Given the description of an element on the screen output the (x, y) to click on. 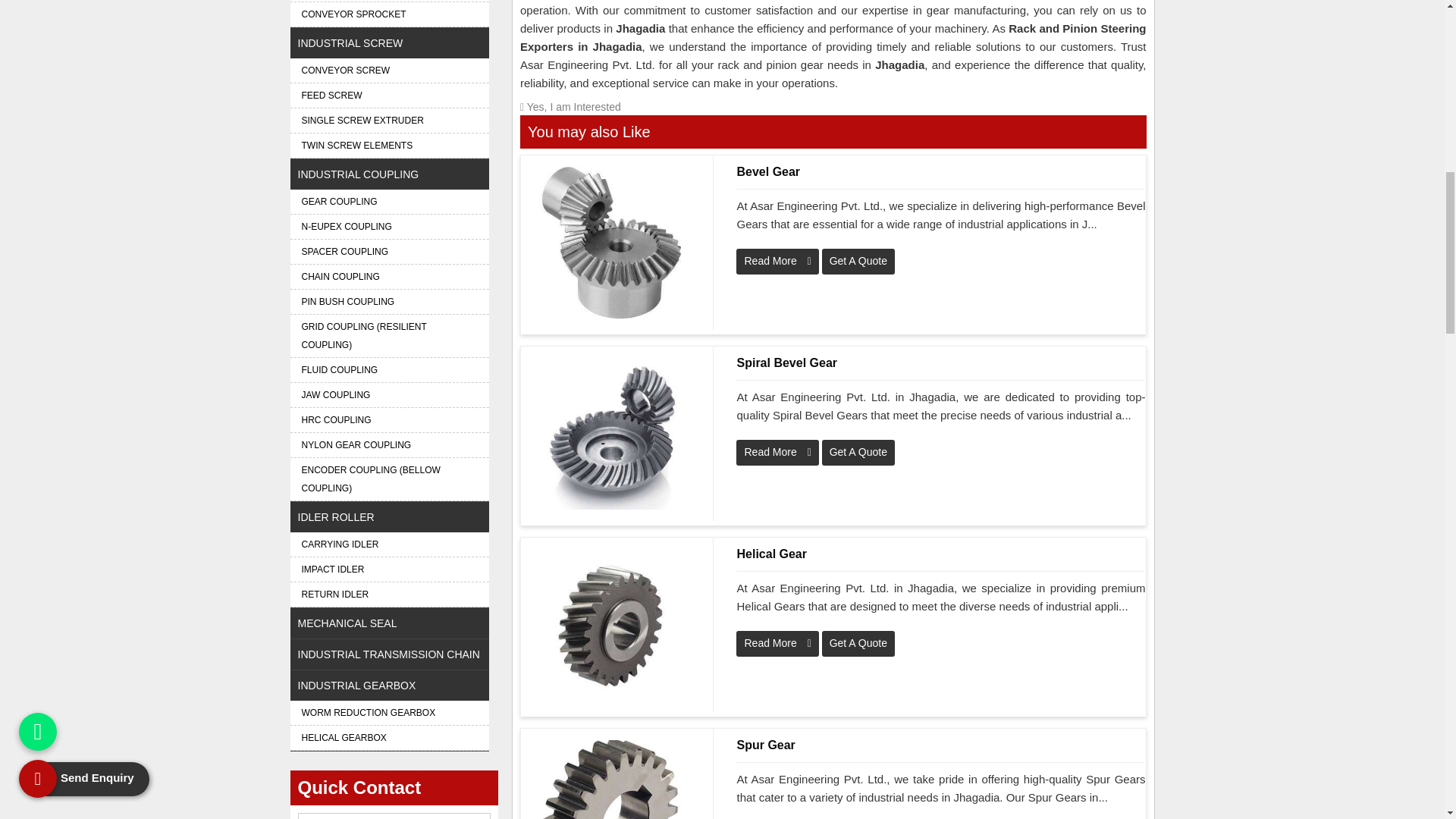
Spur Gear (940, 745)
Bevel Gear (940, 171)
Spiral Bevel Gear (940, 362)
Helical Gear (940, 554)
Read More (777, 261)
Get A Quote (833, 107)
Get A Quote (858, 261)
Read More (777, 452)
 Bevel Gear Manufacturers in Jhagadia (611, 242)
Bevel Gear (611, 242)
